Given the description of an element on the screen output the (x, y) to click on. 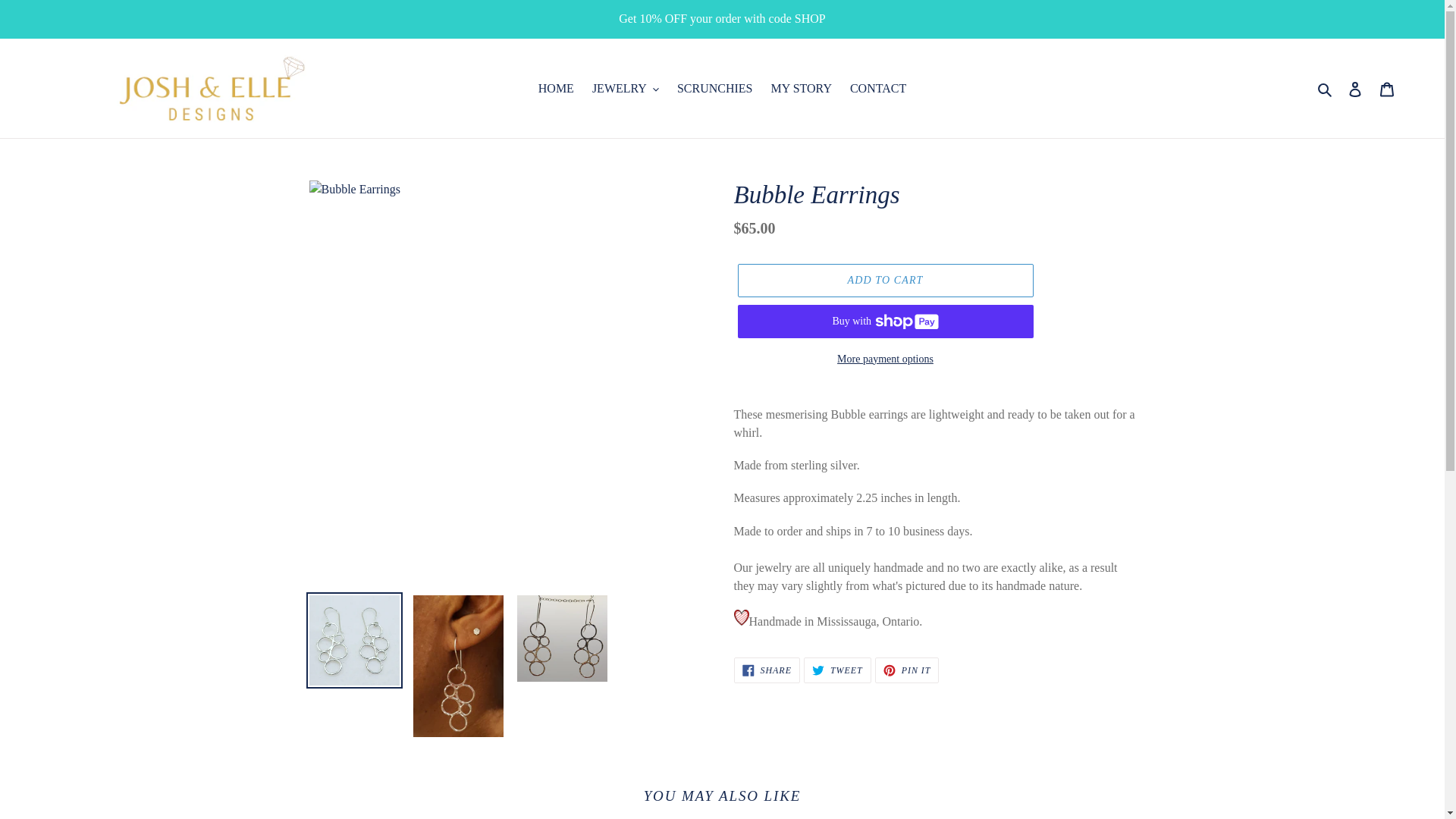
Cart (1387, 87)
CONTACT (878, 87)
JEWELRY (625, 87)
SCRUNCHIES (714, 87)
HOME (555, 87)
MY STORY (800, 87)
Log in (1355, 87)
Search (1326, 88)
